Given the description of an element on the screen output the (x, y) to click on. 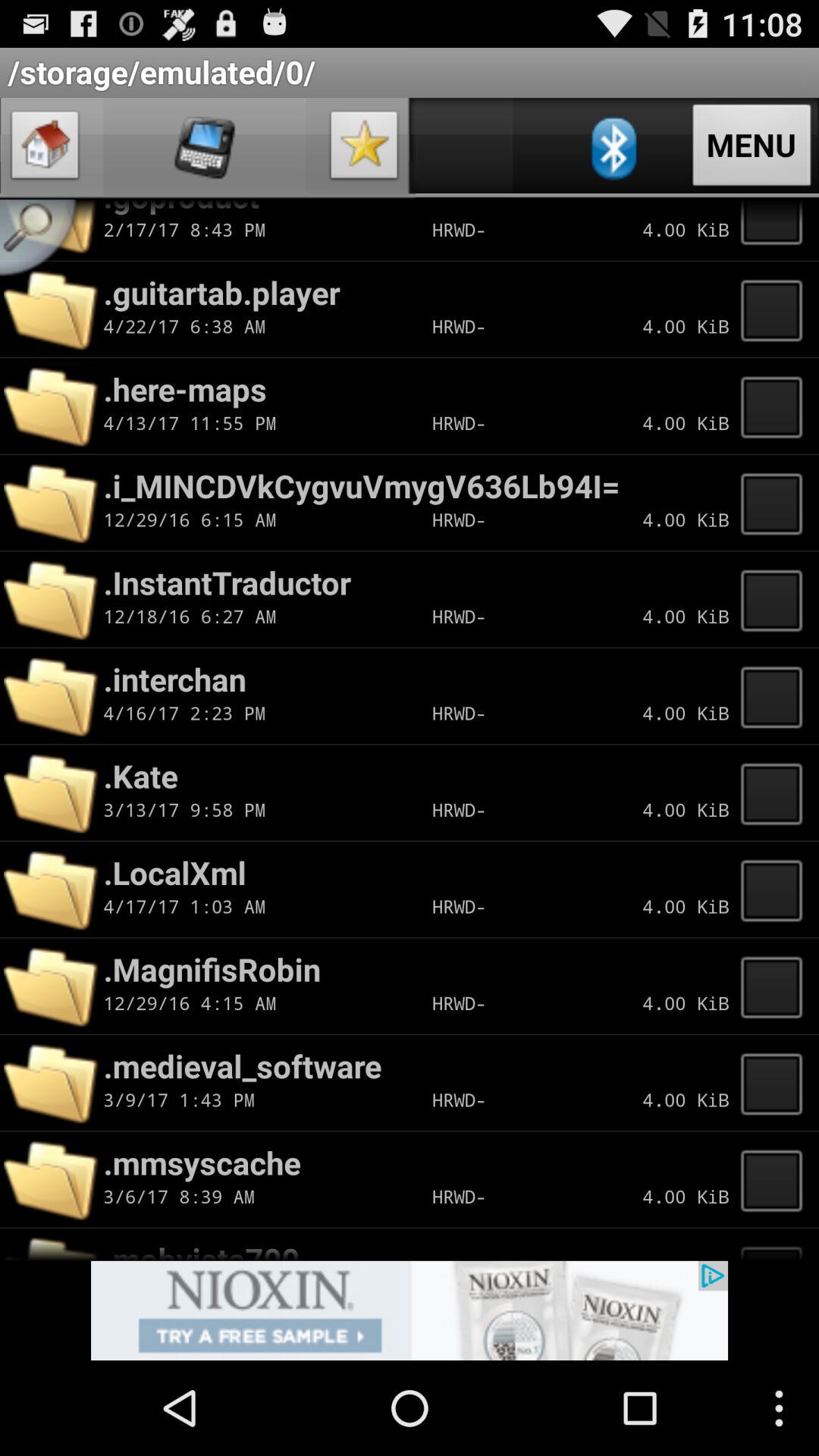
checkbox to select folder (776, 1179)
